Given the description of an element on the screen output the (x, y) to click on. 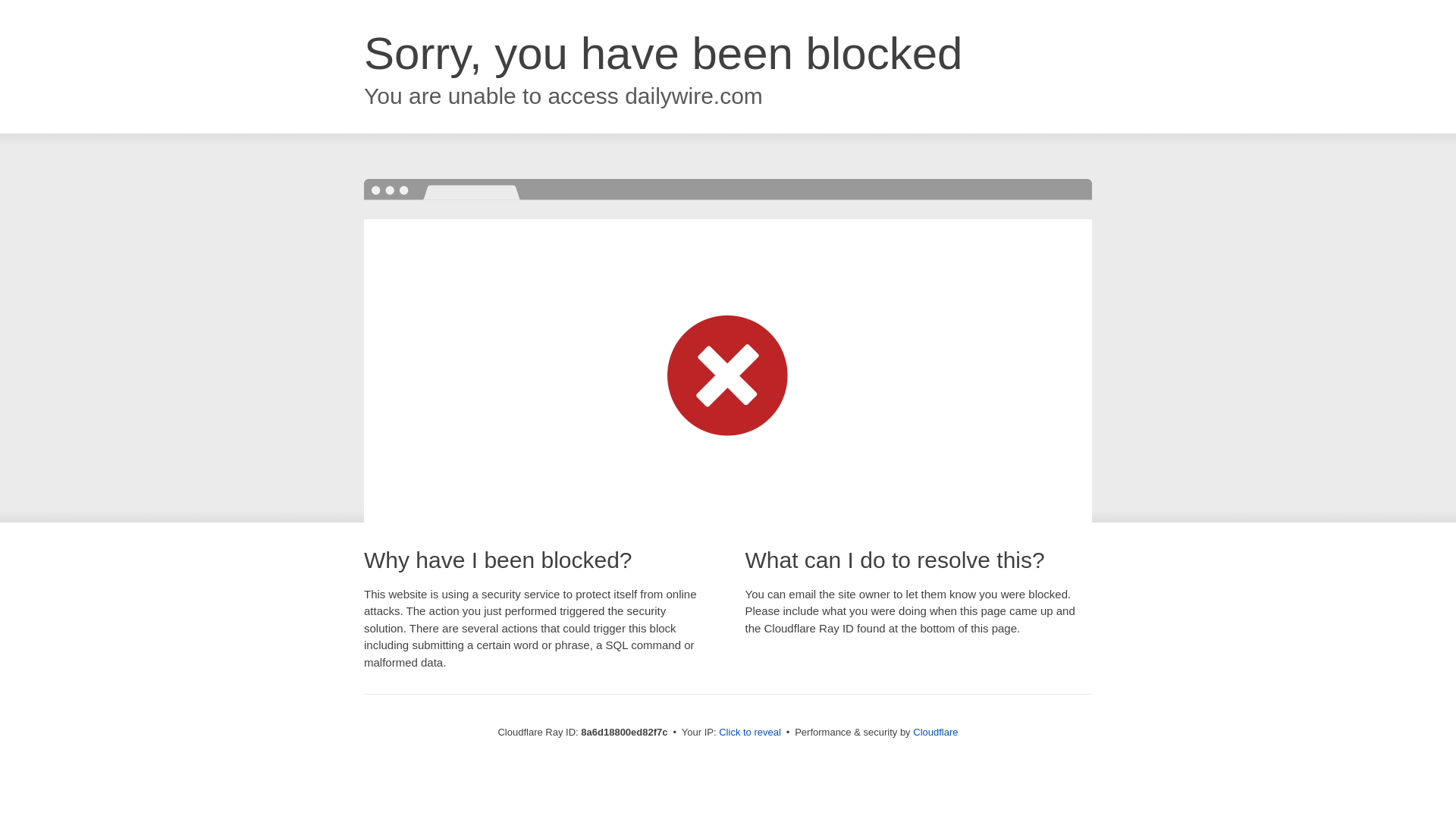
Cloudflare (935, 731)
Click to reveal (749, 732)
